Given the description of an element on the screen output the (x, y) to click on. 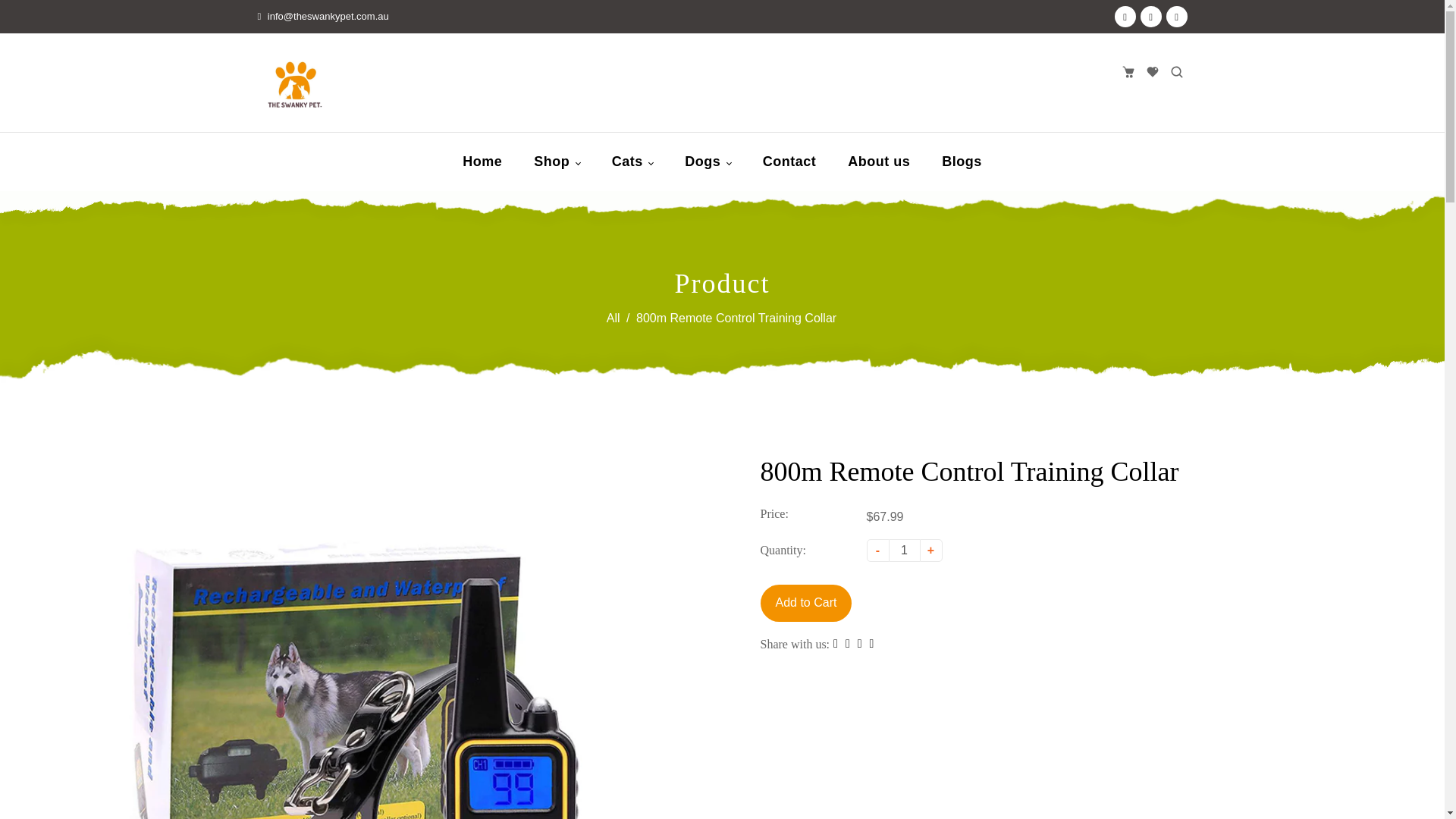
Facebook (1125, 16)
Instagram (1177, 16)
Wishlist (1151, 71)
Search (1176, 71)
Cats (632, 161)
Pinterest (1150, 16)
Your Cart (1127, 71)
Shop (556, 161)
Home (481, 161)
